Given the description of an element on the screen output the (x, y) to click on. 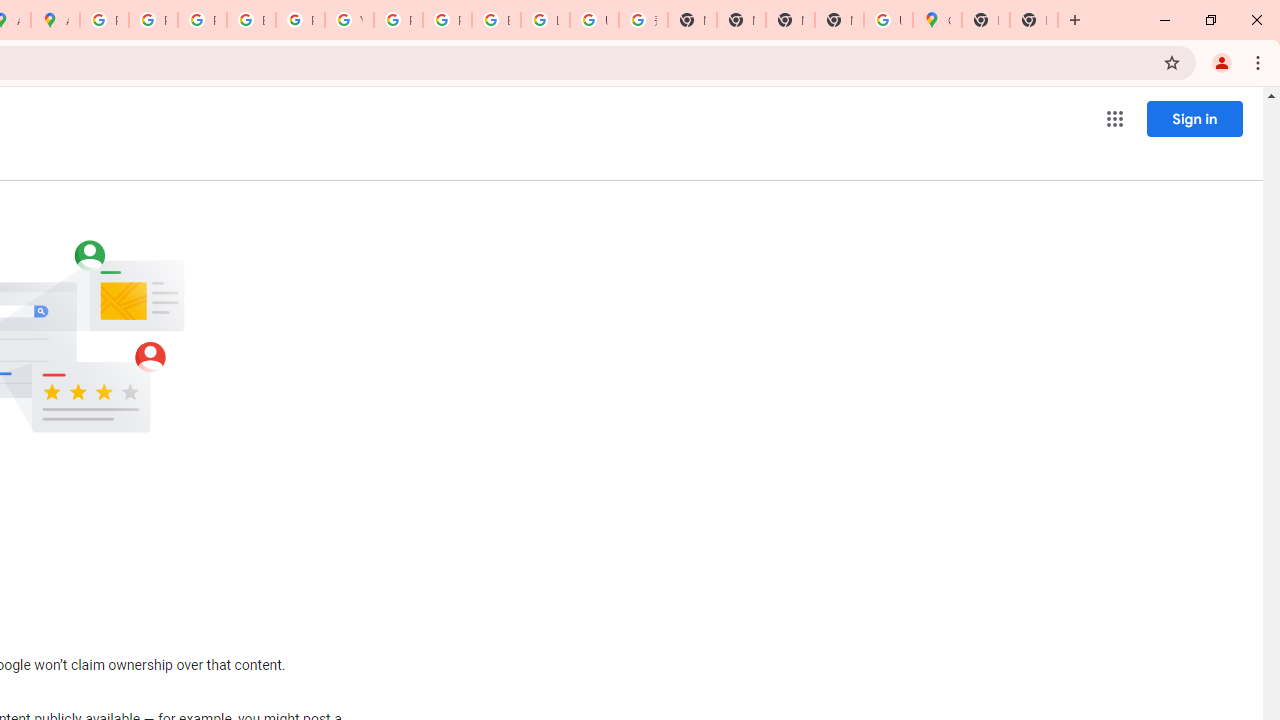
Google Maps (937, 20)
Use Google Maps in Space - Google Maps Help (888, 20)
New Tab (1033, 20)
